Given the description of an element on the screen output the (x, y) to click on. 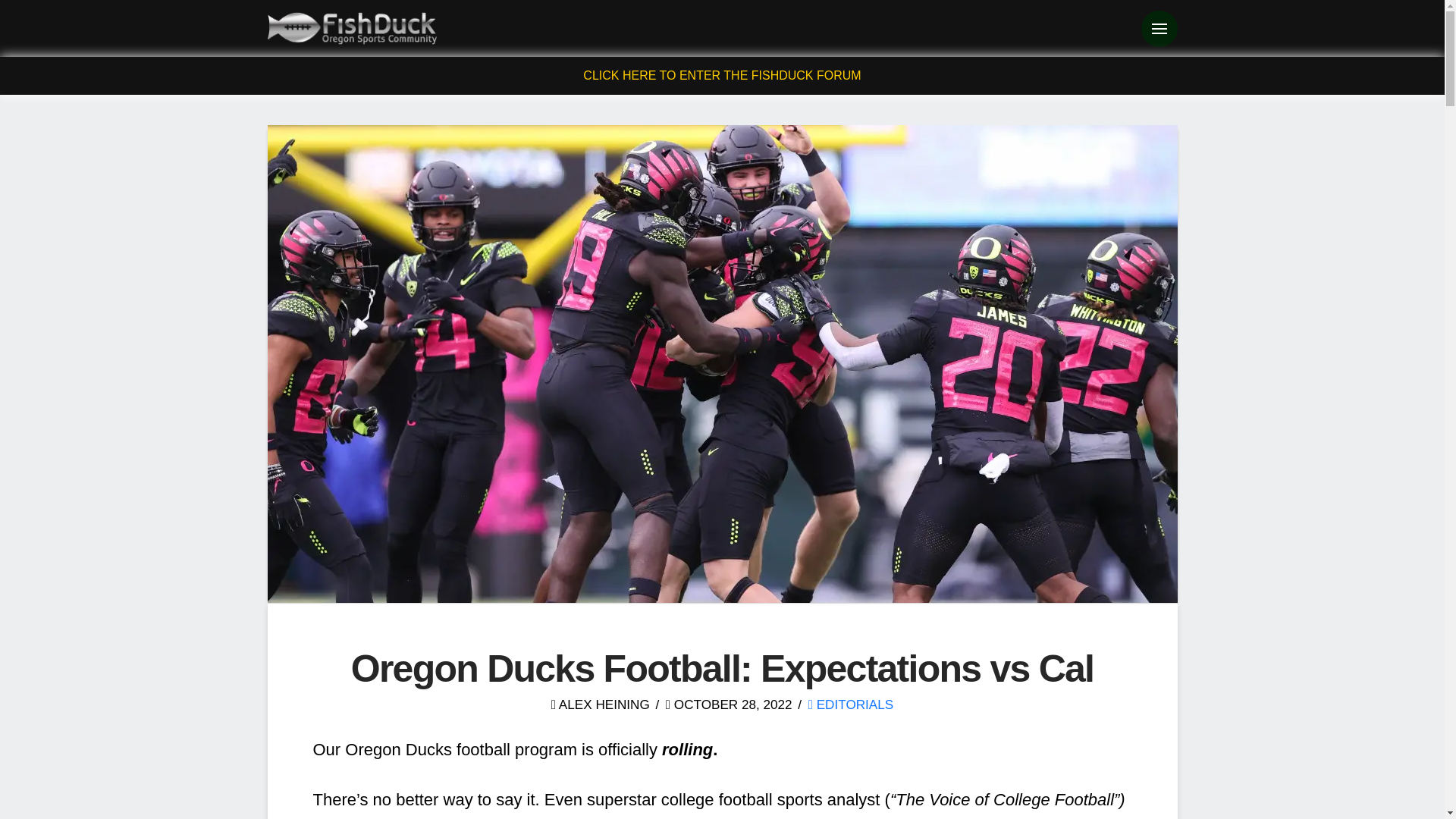
EDITORIALS (850, 703)
CLICK HERE TO ENTER THE FISHDUCK FORUM (721, 74)
